Given the description of an element on the screen output the (x, y) to click on. 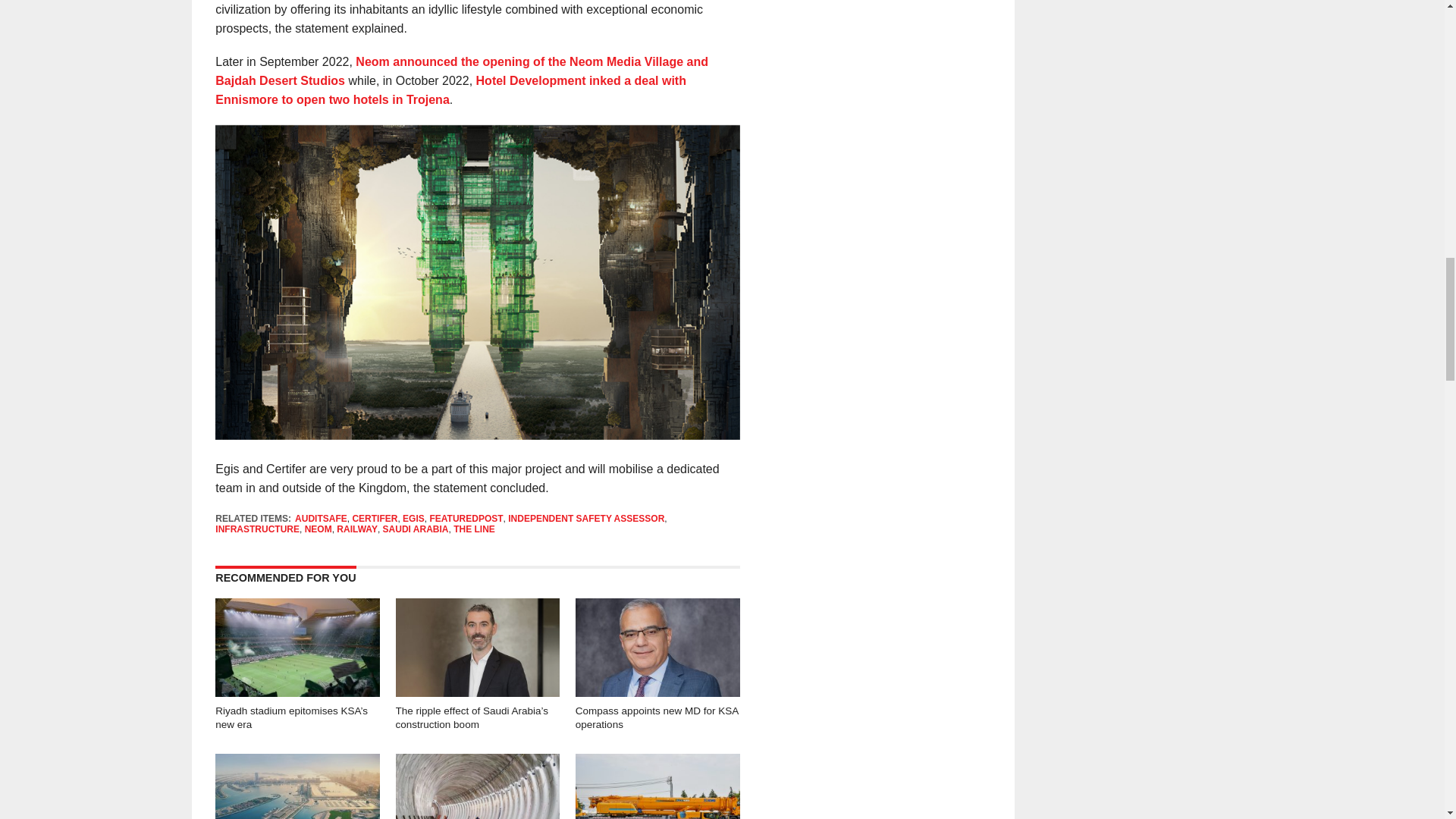
Compass appoints new MD for KSA operations (657, 692)
